Given the description of an element on the screen output the (x, y) to click on. 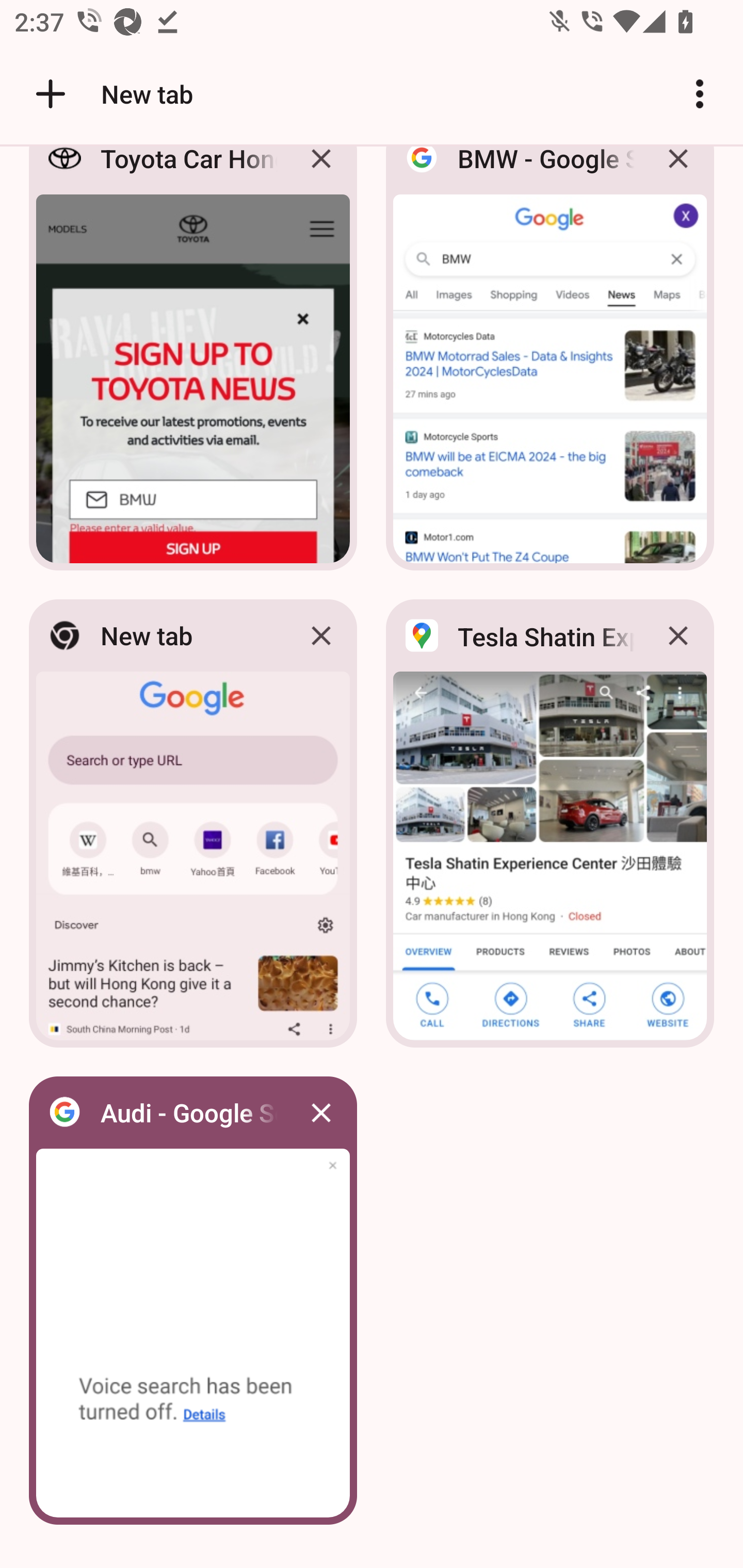
Open the home page (43, 93)
New tab (111, 93)
Customize and control Google Chrome (699, 93)
Close BMW - Google Search tab (677, 173)
New tab New tab, tab Close New tab tab (192, 822)
Close New tab tab (320, 635)
Close Audi - Google Search tab (320, 1112)
